Given the description of an element on the screen output the (x, y) to click on. 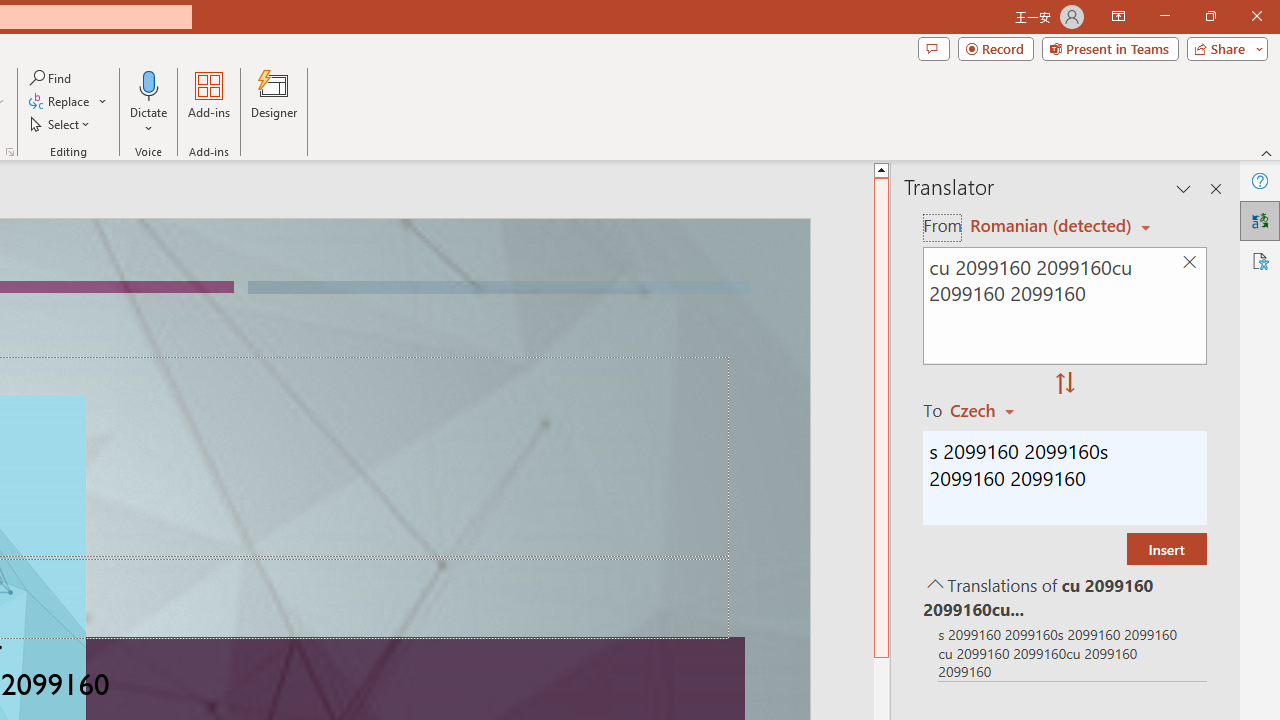
Clear text (1189, 262)
Replace... (68, 101)
Czech (detected) (1047, 225)
